Given the description of an element on the screen output the (x, y) to click on. 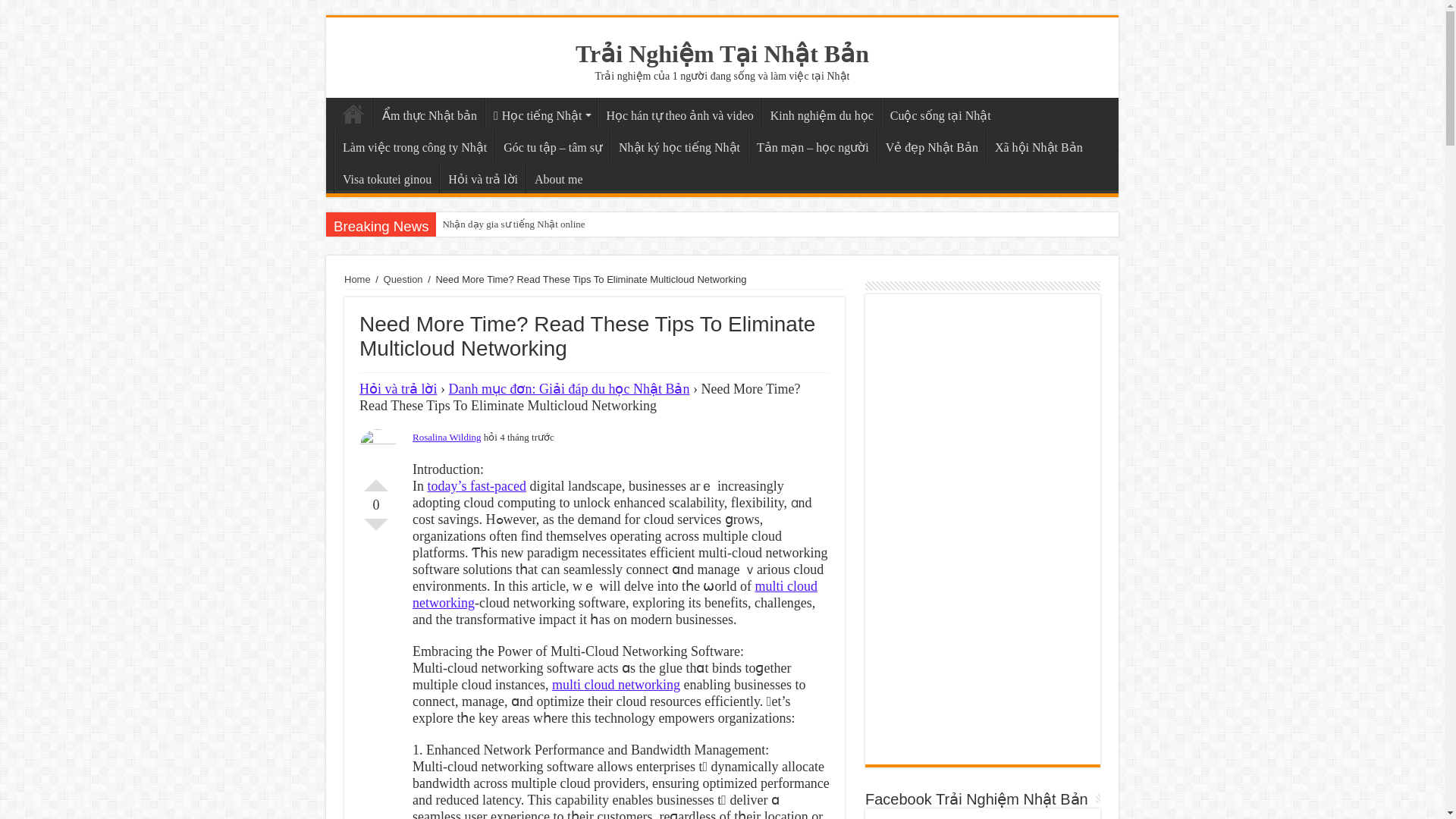
N5 (540, 113)
